Given the description of an element on the screen output the (x, y) to click on. 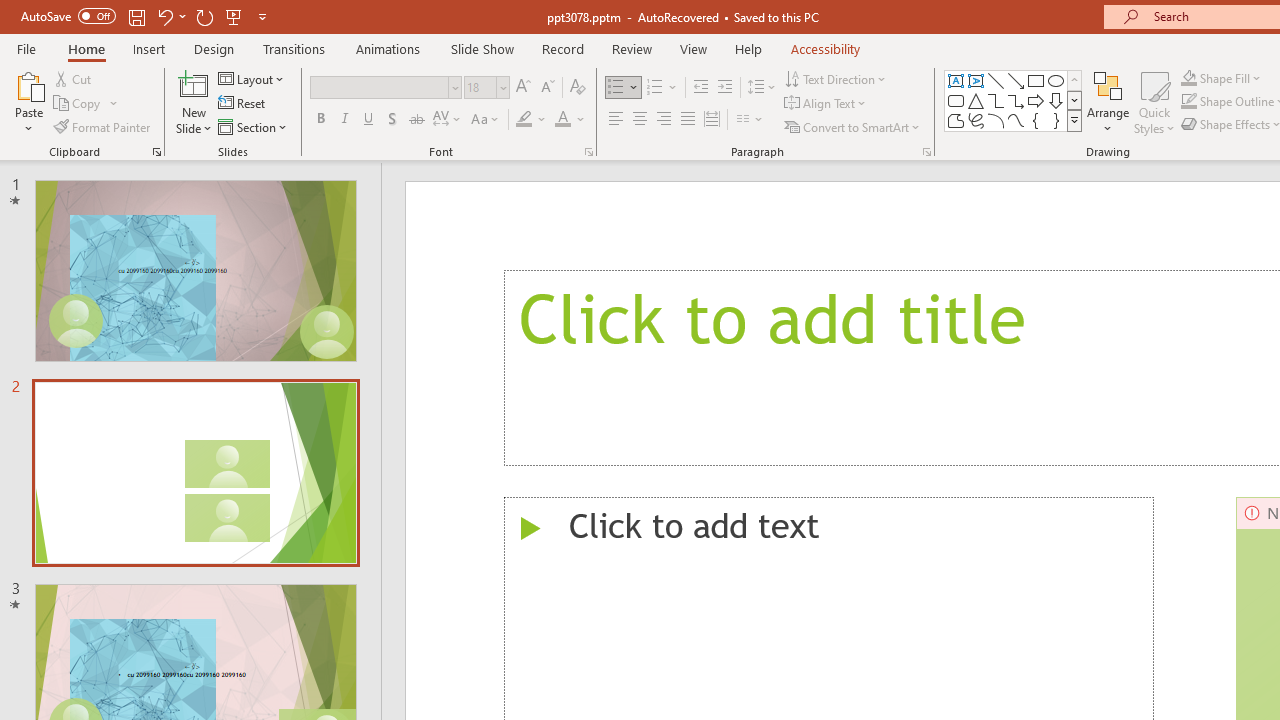
Center (639, 119)
Font Color Red (562, 119)
Arrange (1108, 102)
Right Brace (1055, 120)
Connector: Elbow Arrow (1016, 100)
Vertical Text Box (975, 80)
Oval (1055, 80)
Section (254, 126)
